Given the description of an element on the screen output the (x, y) to click on. 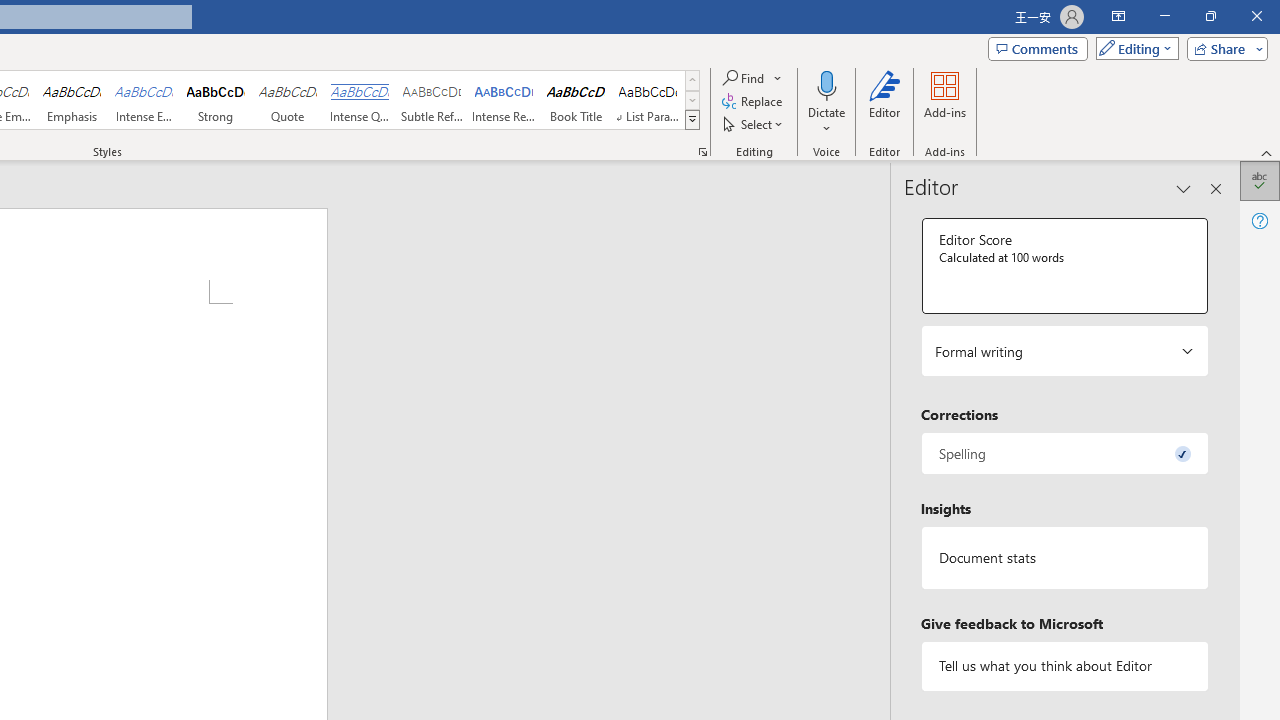
Tell us what you think about Editor (1064, 666)
Book Title (575, 100)
Emphasis (71, 100)
Row Down (692, 100)
Styles... (702, 151)
Quote (287, 100)
Editor (1260, 180)
Replace... (753, 101)
